Given the description of an element on the screen output the (x, y) to click on. 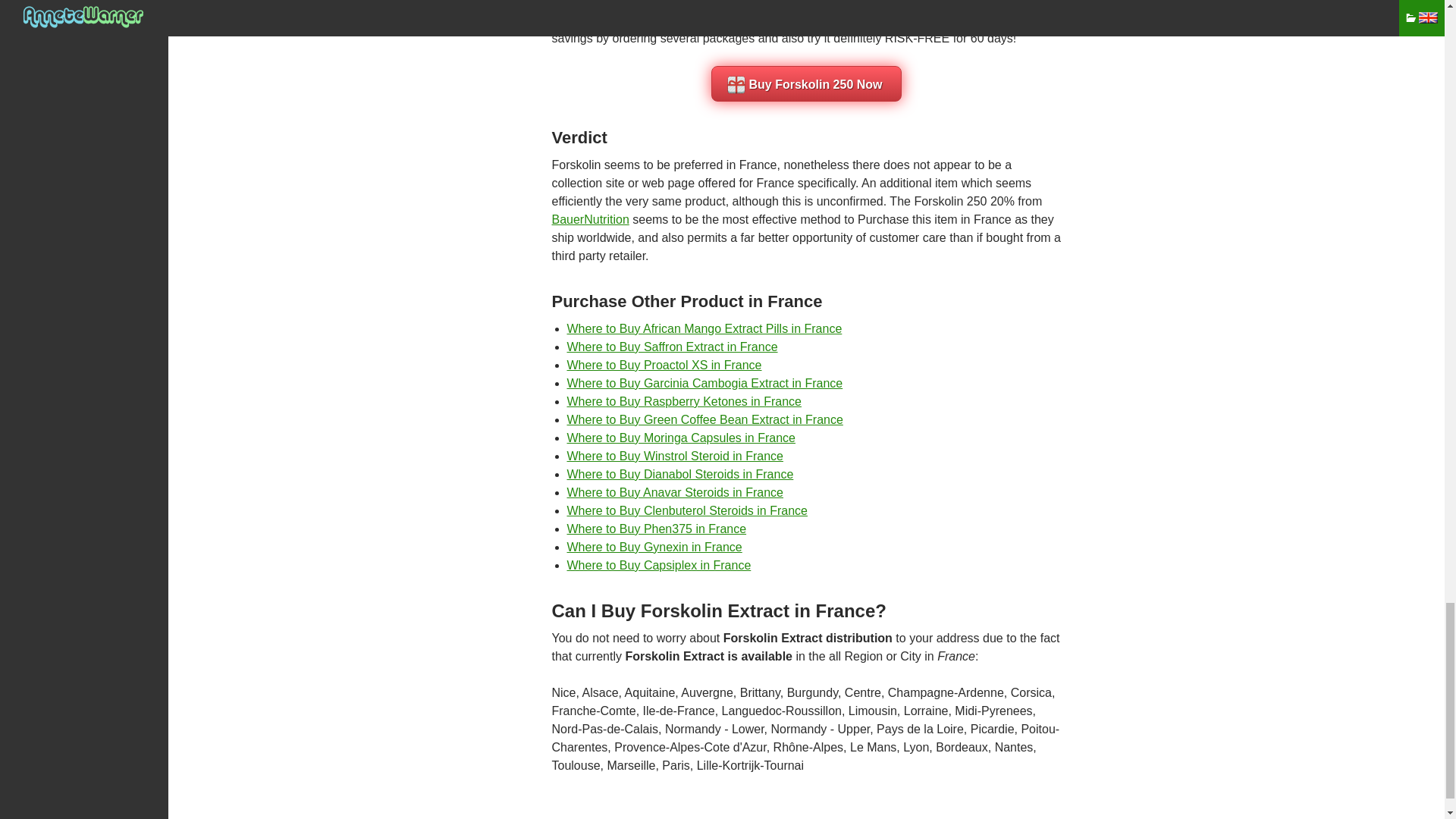
Where Can I Buy proactol online France (664, 364)
Where Can I Buy garcinia-cambogia-extract online France (705, 382)
Where to Buy Phen375 in France (656, 528)
Where to Buy African Mango Extract Pills in France (705, 328)
Where to Buy Clenbuterol Steroids in France (687, 510)
Alsace (600, 692)
Where to Buy Raspberry Ketones in France (684, 400)
Where Can I Buy capsiplex online France (659, 564)
Where Can I Buy gynexin online France (654, 546)
Where Can I Buy green-coffee-bean-extract online France (705, 419)
Where to Buy Moringa Capsules in France (680, 437)
Where to Buy Anavar Steroids in France (675, 492)
Where to Buy Green Coffee Bean Extract in France (705, 419)
Where to Buy Winstrol Steroid in France (675, 455)
Where Can I Buy african-mango-extract-pills online France (705, 328)
